Given the description of an element on the screen output the (x, y) to click on. 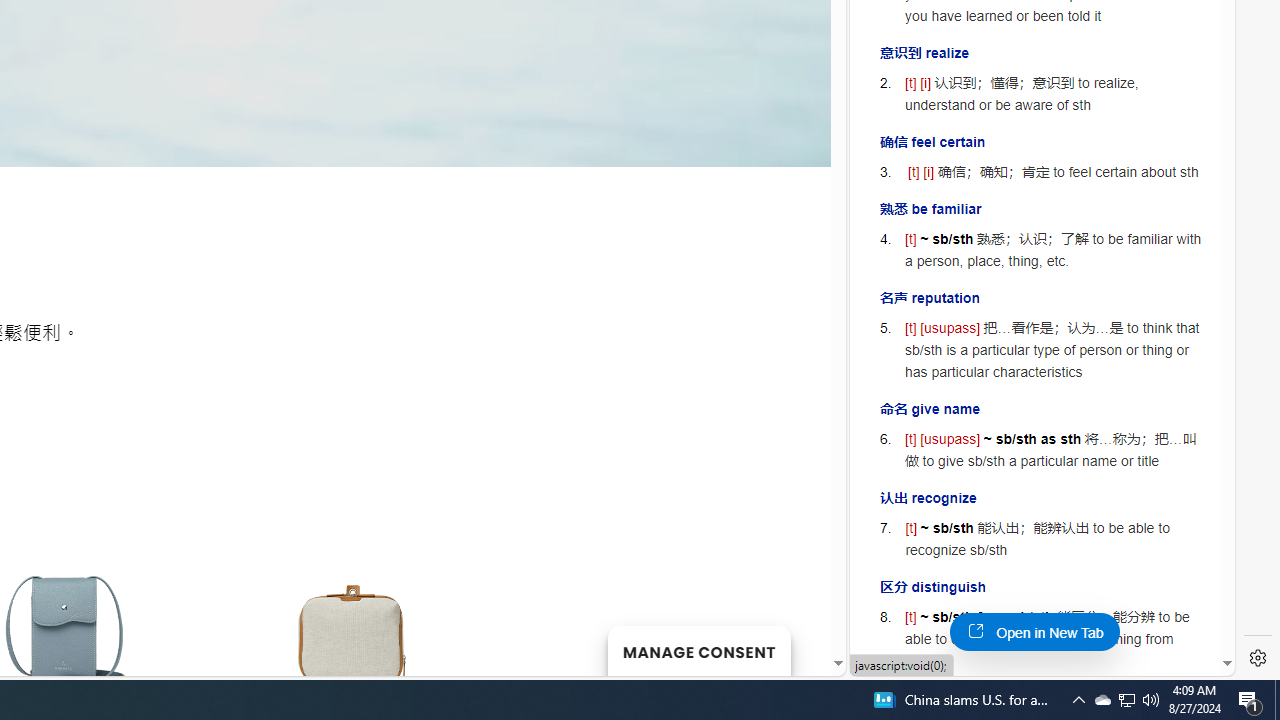
MANAGE CONSENT (698, 650)
